Given the description of an element on the screen output the (x, y) to click on. 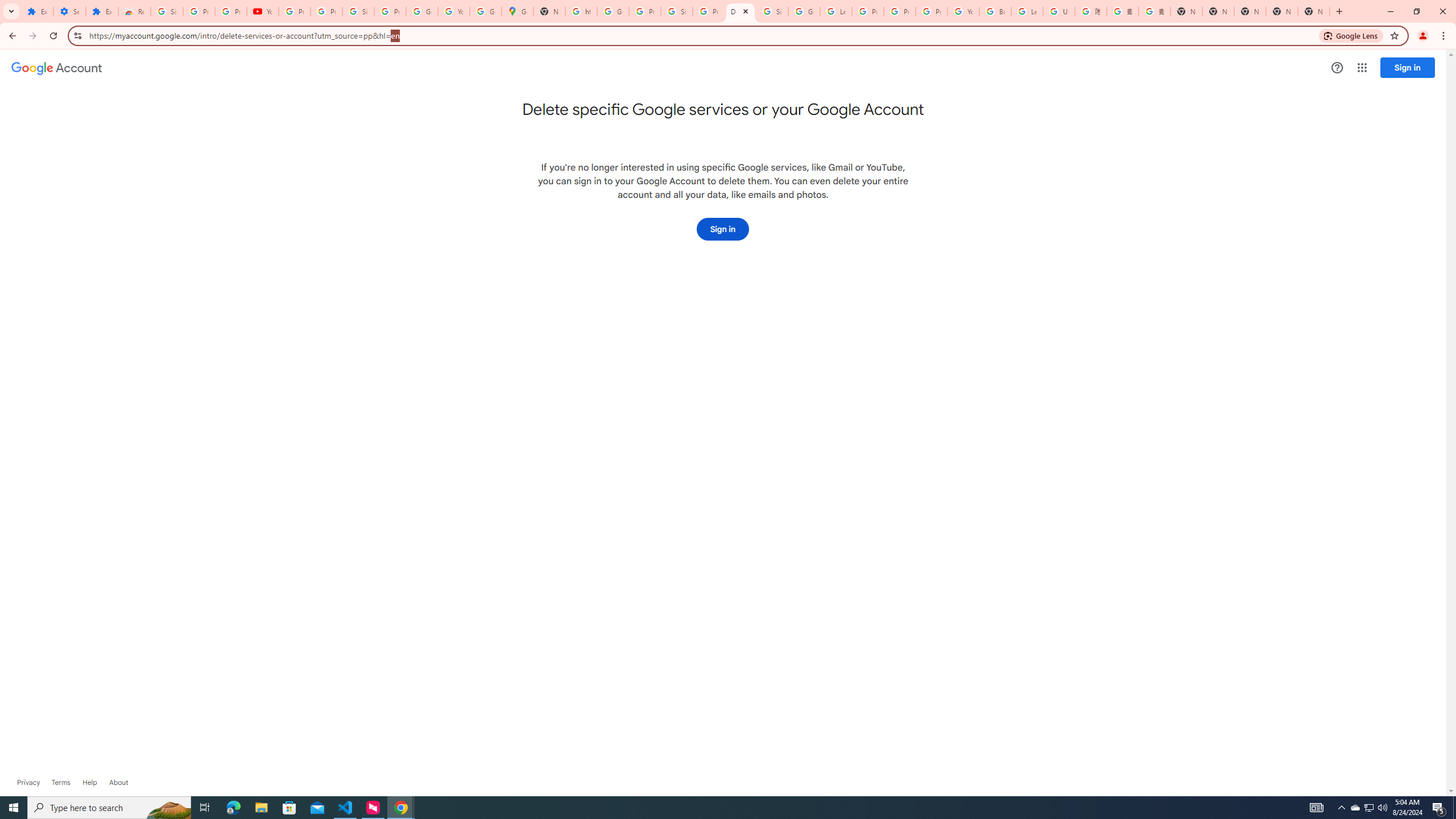
Privacy Help Center - Policies Help (899, 11)
https://scholar.google.com/ (581, 11)
Delete specific Google services or your Google Account (740, 11)
Google Account settings (56, 68)
Sign in - Google Accounts (772, 11)
Learn more about Google Account (118, 782)
Extensions (101, 11)
